Given the description of an element on the screen output the (x, y) to click on. 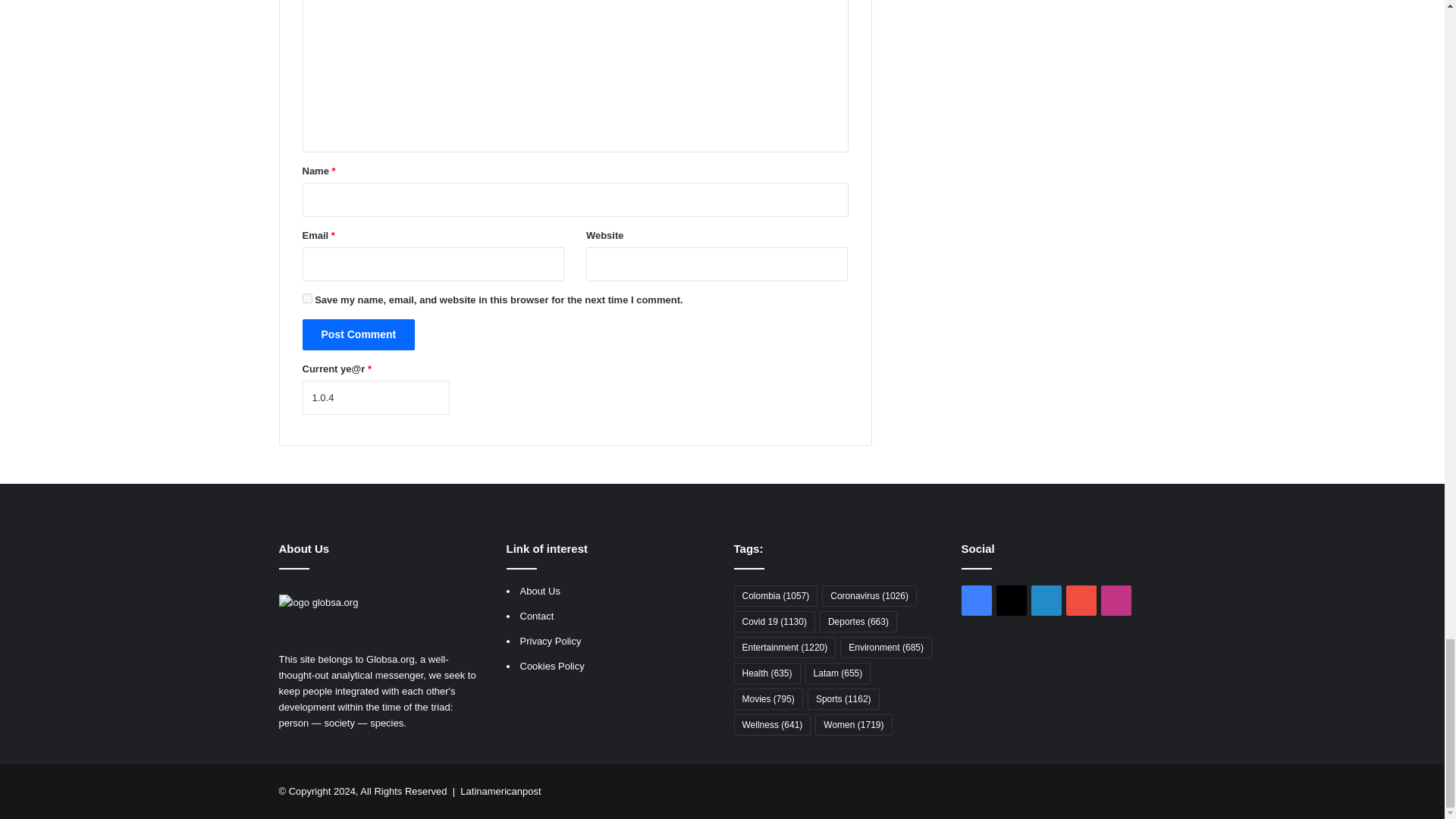
Post Comment (357, 334)
1.0.4 (374, 397)
yes (306, 298)
